Given the description of an element on the screen output the (x, y) to click on. 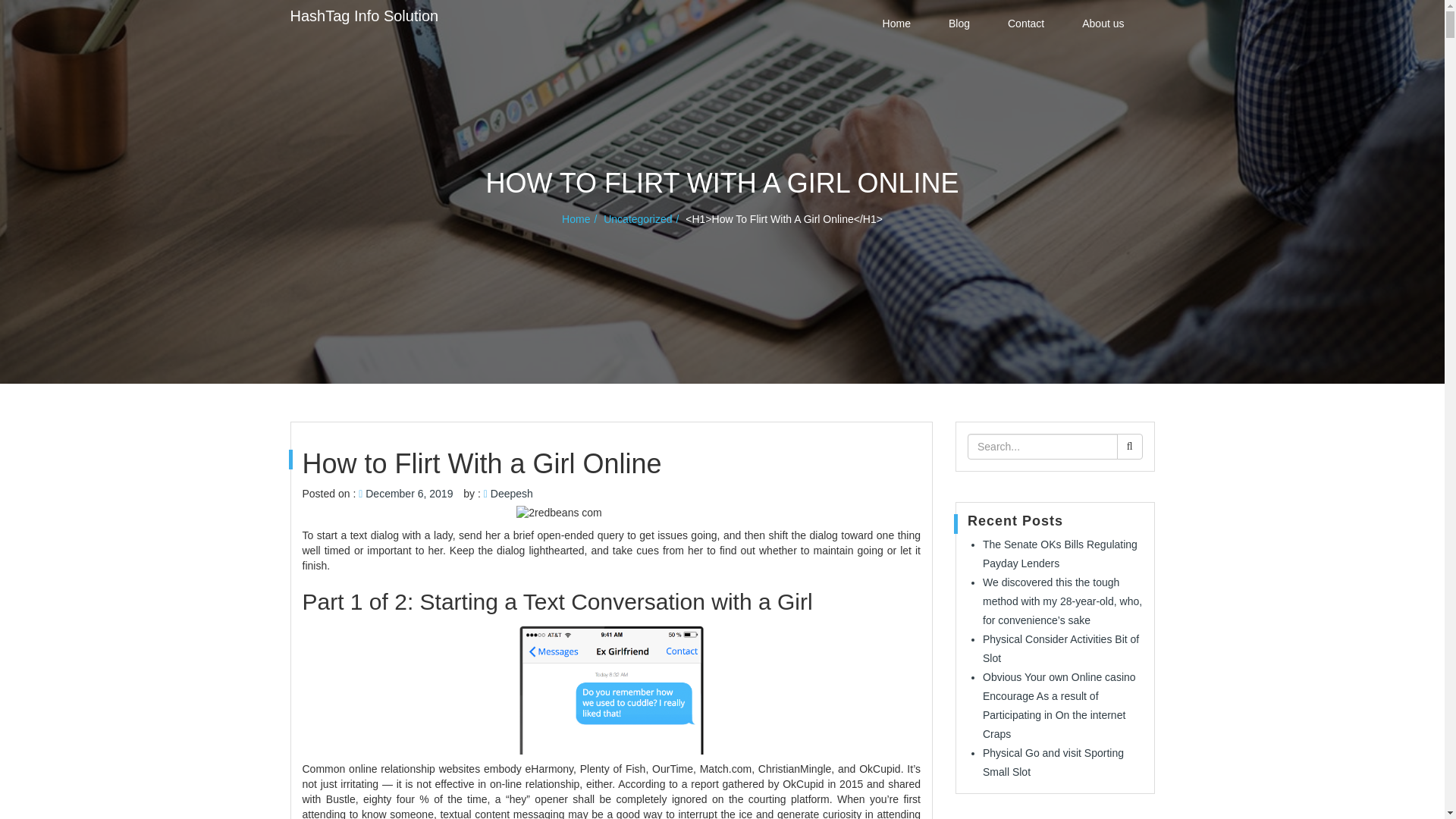
Physical Go and visit Sporting Small Slot (1053, 762)
Home (896, 23)
Home (580, 218)
Uncategorized (643, 218)
The Senate OKs Bills Regulating Payday Lenders (1059, 553)
About us (1102, 23)
Contact (1025, 23)
HashTag Info Solution (363, 15)
Blog (959, 23)
